Given the description of an element on the screen output the (x, y) to click on. 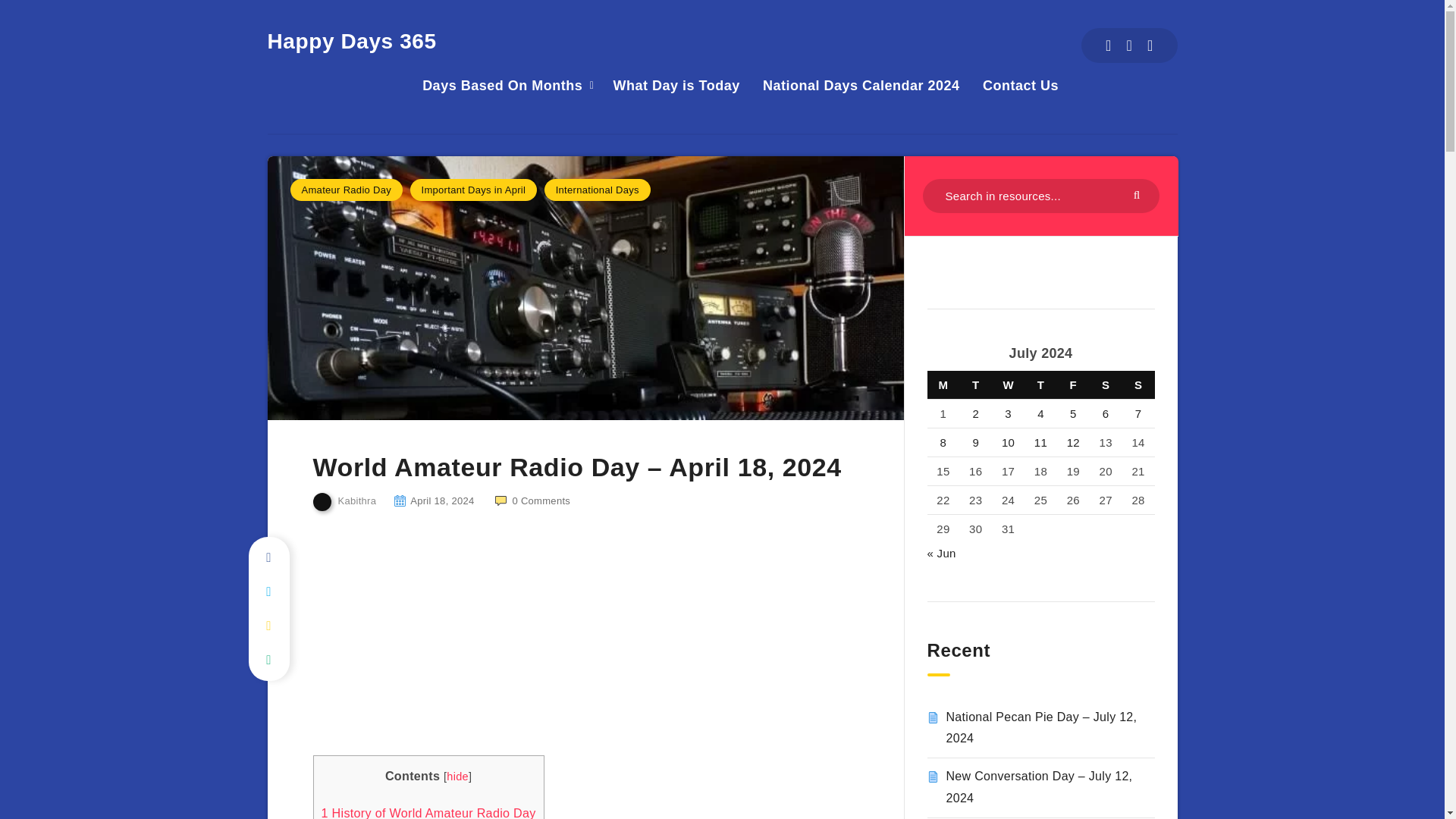
Friday (1073, 385)
International Days (597, 189)
Thursday (1041, 385)
Contact Us (1020, 85)
Important Days in April (473, 189)
Monday (942, 385)
1 History of World Amateur Radio Day (428, 812)
Wednesday (1008, 385)
Tuesday (975, 385)
What Day is Today (675, 85)
Amateur Radio Day (346, 189)
hide (457, 776)
Kabithra (344, 501)
Days Based On Months (502, 85)
Sunday (1138, 385)
